Given the description of an element on the screen output the (x, y) to click on. 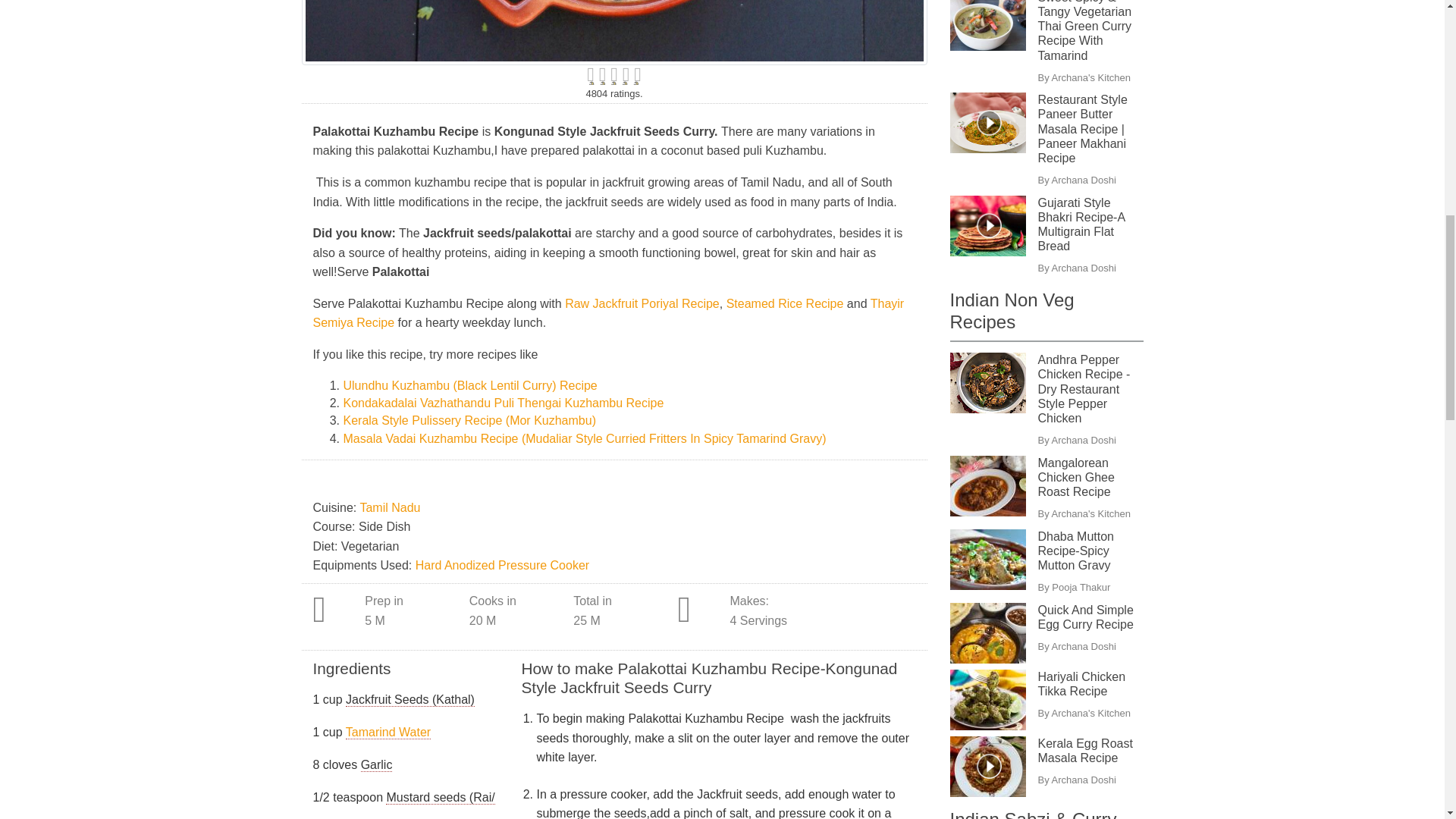
Five Stars (614, 75)
Tamil Nadu (389, 507)
Kondakadalai Vazhathandu Puli Thengai Kuzhambu Recipe (502, 402)
Steamed Rice Recipe  (786, 303)
Tamarind Water (388, 732)
Raw Jackfruit Poriyal Recipe - South Indian Style Stir Fry (641, 303)
Raw Jackfruit Poriyal Recipe (641, 303)
Thayir Semiya Recipe  (608, 313)
Hard Anodized Pressure Cooker (501, 564)
